Given the description of an element on the screen output the (x, y) to click on. 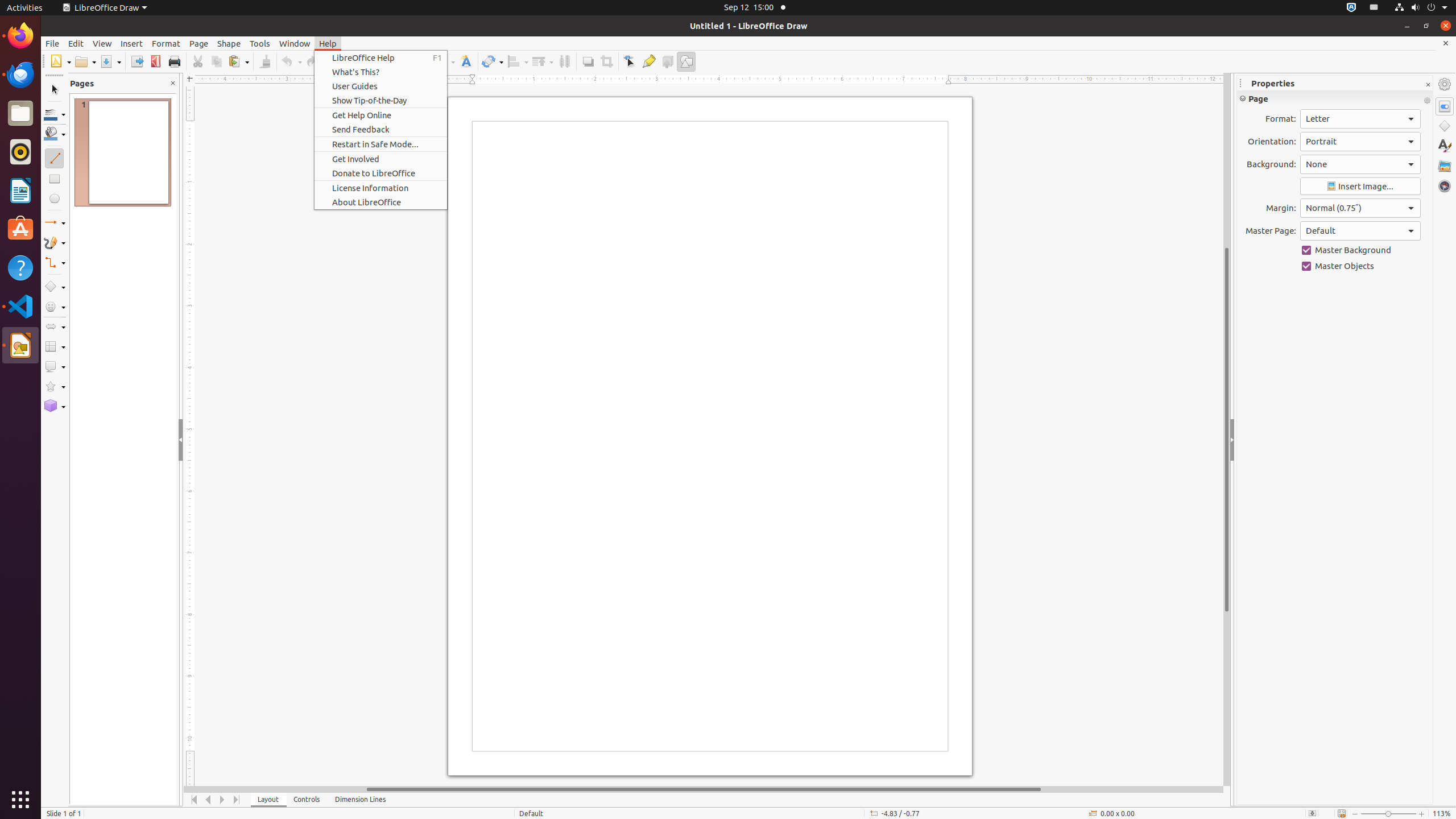
User Guides Element type: menu-item (380, 86)
Insert Image Element type: push-button (1360, 186)
Glue Points Element type: push-button (648, 61)
Vertical scroll bar Element type: scroll-bar (1226, 429)
Thunderbird Mail Element type: push-button (20, 74)
